Given the description of an element on the screen output the (x, y) to click on. 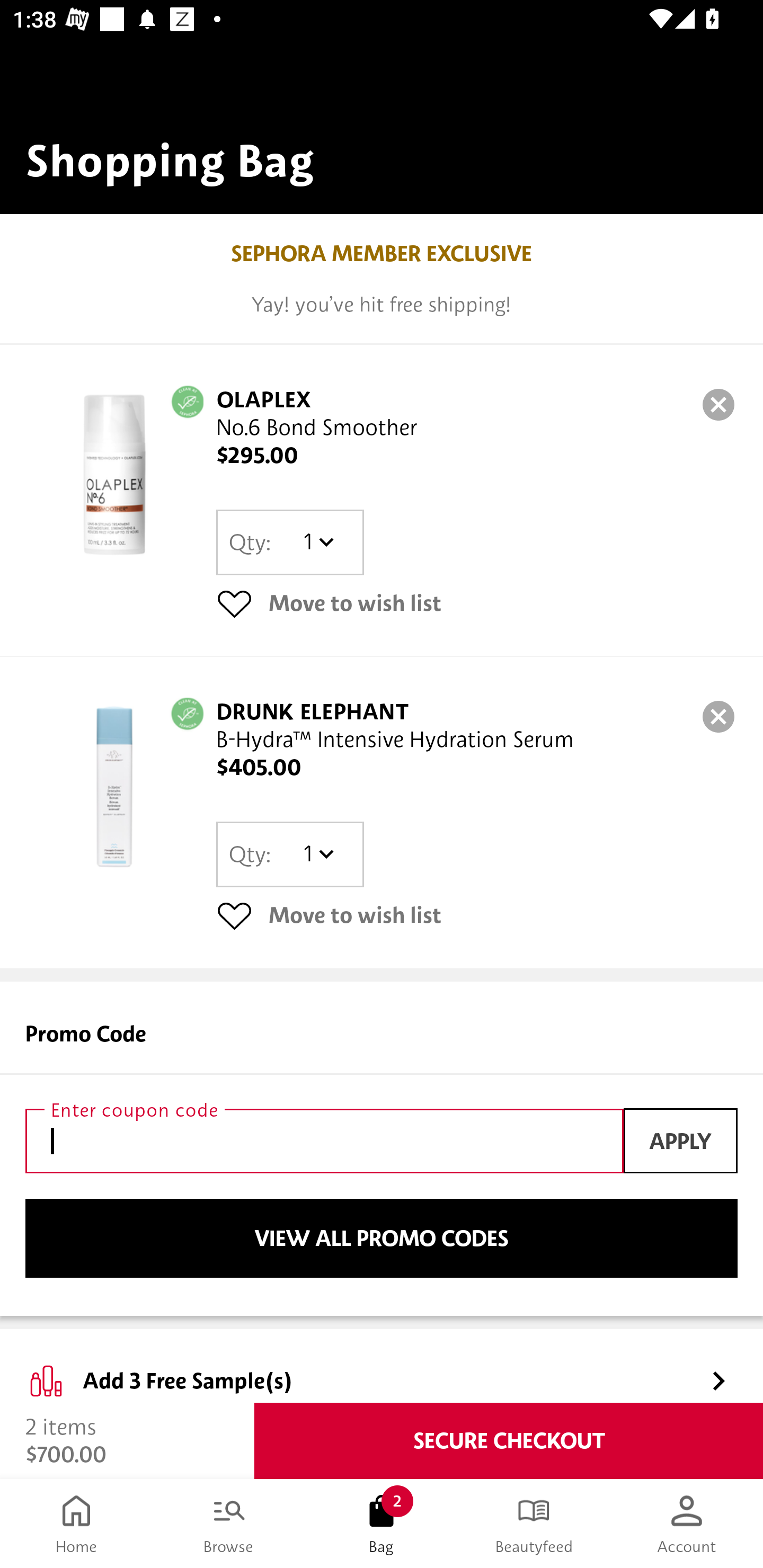
1 (317, 542)
Move to wish list (476, 602)
1 (317, 854)
Move to wish list (476, 914)
APPLY (680, 1140)
Enter coupon code (324, 1140)
VIEW ALL PROMO CODES (381, 1238)
Add 3 Free Sample(s) (381, 1365)
SECURE CHECKOUT (508, 1440)
Home (76, 1523)
Browse (228, 1523)
Beautyfeed (533, 1523)
Account (686, 1523)
